Given the description of an element on the screen output the (x, y) to click on. 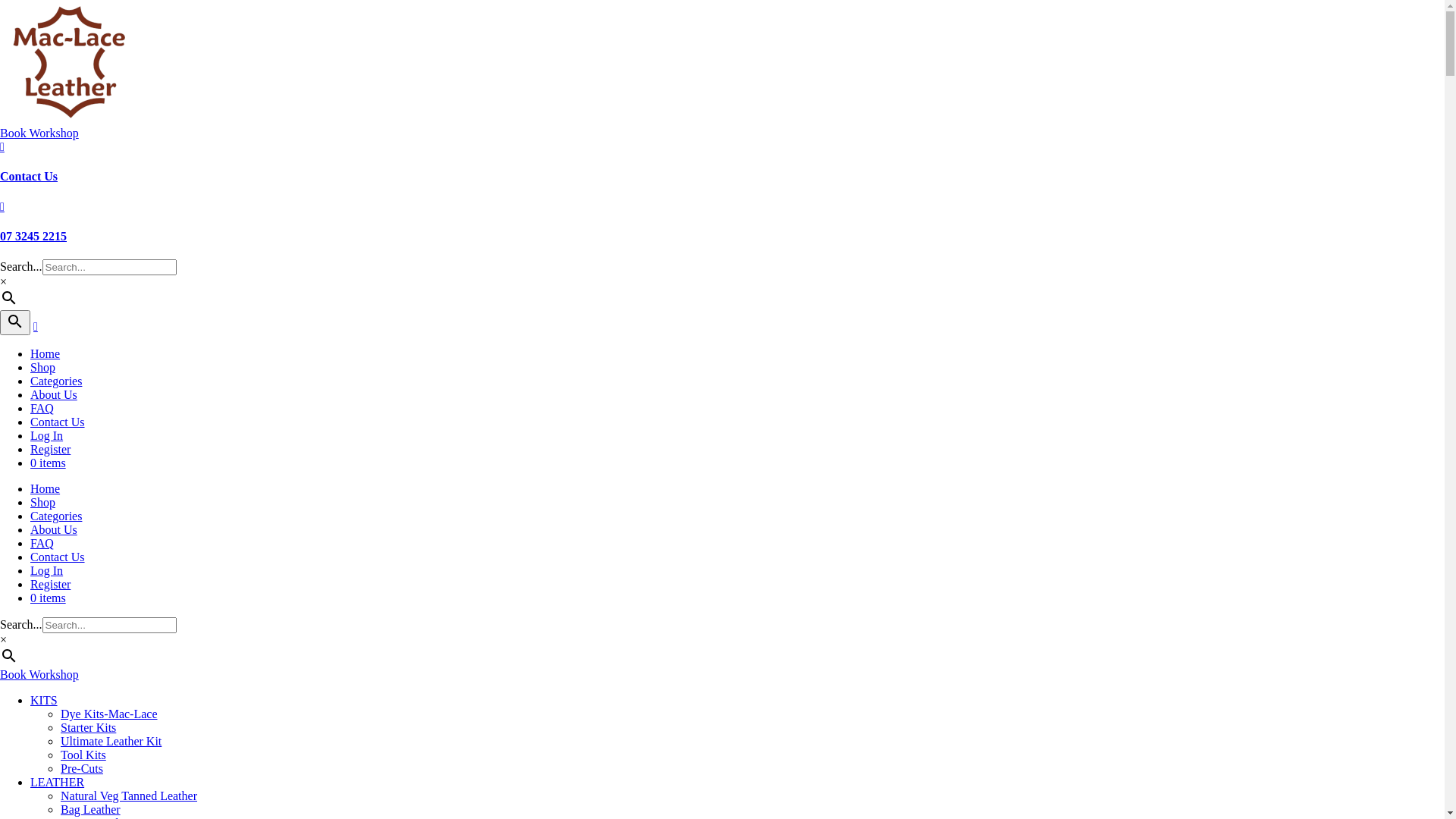
Book Workshop Element type: text (39, 674)
Categories Element type: text (55, 380)
Shop Element type: text (42, 366)
Dye Kits-Mac-Lace Element type: text (108, 713)
Mac-Lace-Logo-184 (1) Element type: hover (69, 61)
About Us Element type: text (53, 529)
Contact Us Element type: text (57, 556)
Home Element type: text (44, 353)
Starter Kits Element type: text (88, 727)
Shop Element type: text (42, 501)
LEATHER Element type: text (57, 781)
Home Element type: text (44, 488)
About Us Element type: text (53, 394)
Register Element type: text (50, 583)
Ultimate Leather Kit Element type: text (110, 740)
Contact Us Element type: text (28, 175)
Log In Element type: text (46, 570)
Natural Veg Tanned Leather Element type: text (128, 795)
Categories Element type: text (55, 515)
0 items Element type: text (47, 462)
Log In Element type: text (46, 435)
Tool Kits Element type: text (83, 754)
07 3245 2215 Element type: text (33, 235)
FAQ Element type: text (41, 407)
Contact Us Element type: text (57, 421)
Book Workshop Element type: text (39, 132)
0 items Element type: text (47, 597)
Bag Leather Element type: text (90, 809)
Pre-Cuts Element type: text (81, 768)
Register Element type: text (50, 448)
FAQ Element type: text (41, 542)
KITS Element type: text (43, 699)
